Given the description of an element on the screen output the (x, y) to click on. 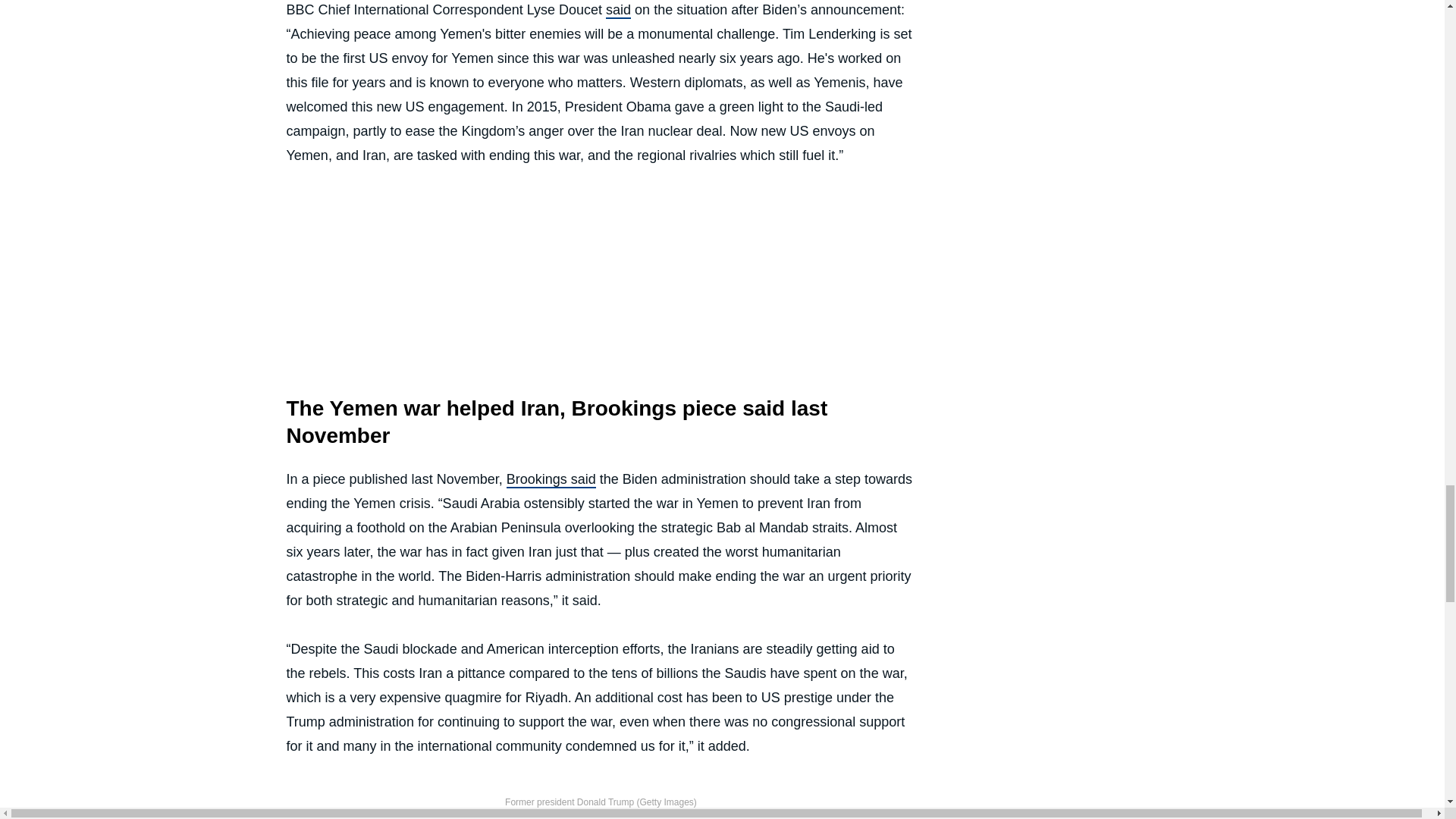
Brookings said (550, 479)
said (617, 10)
